Given the description of an element on the screen output the (x, y) to click on. 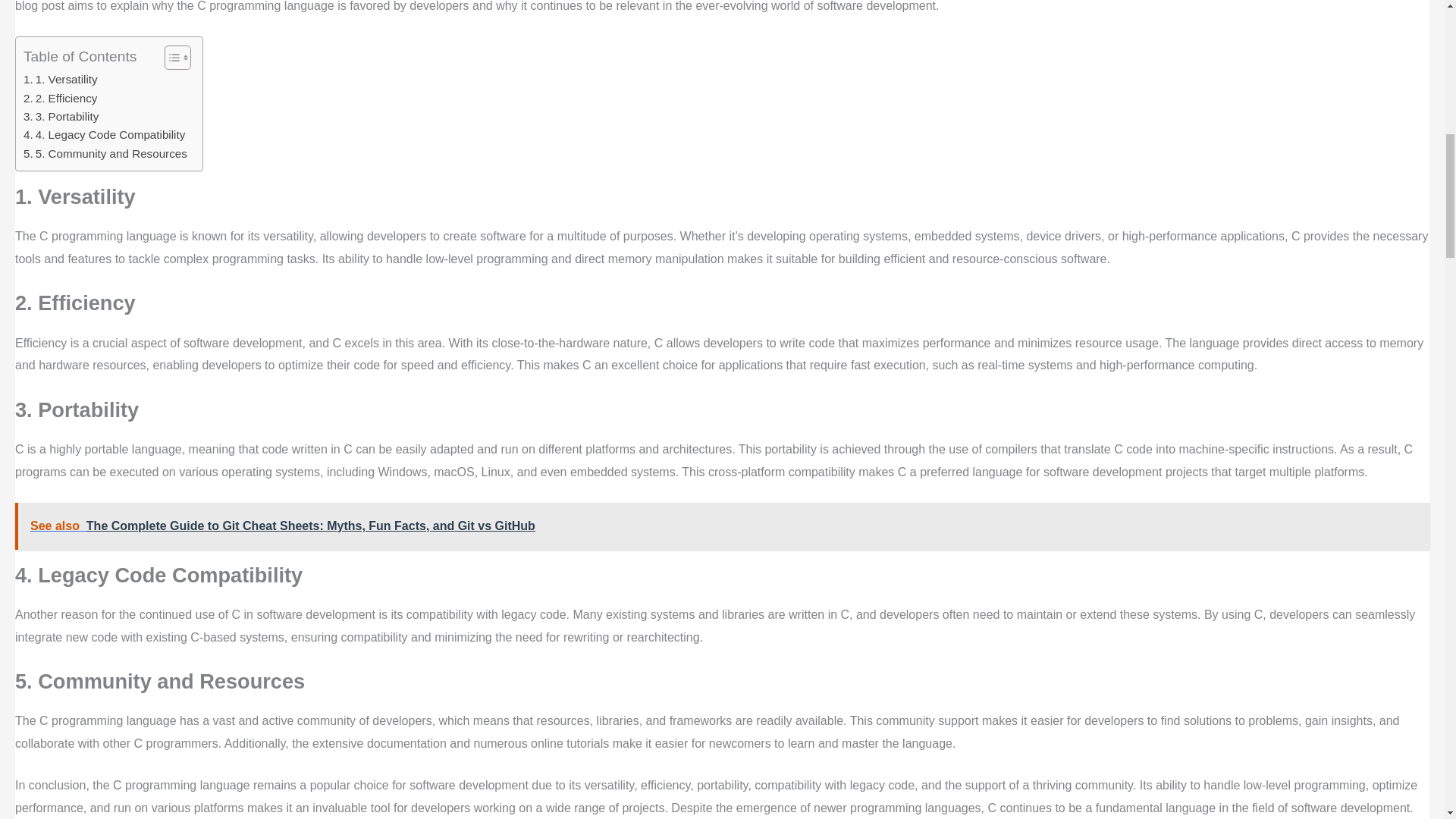
4. Legacy Code Compatibility (103, 135)
5. Community and Resources (105, 153)
1. Versatility (60, 79)
2. Efficiency (60, 98)
3. Portability (61, 116)
